Given the description of an element on the screen output the (x, y) to click on. 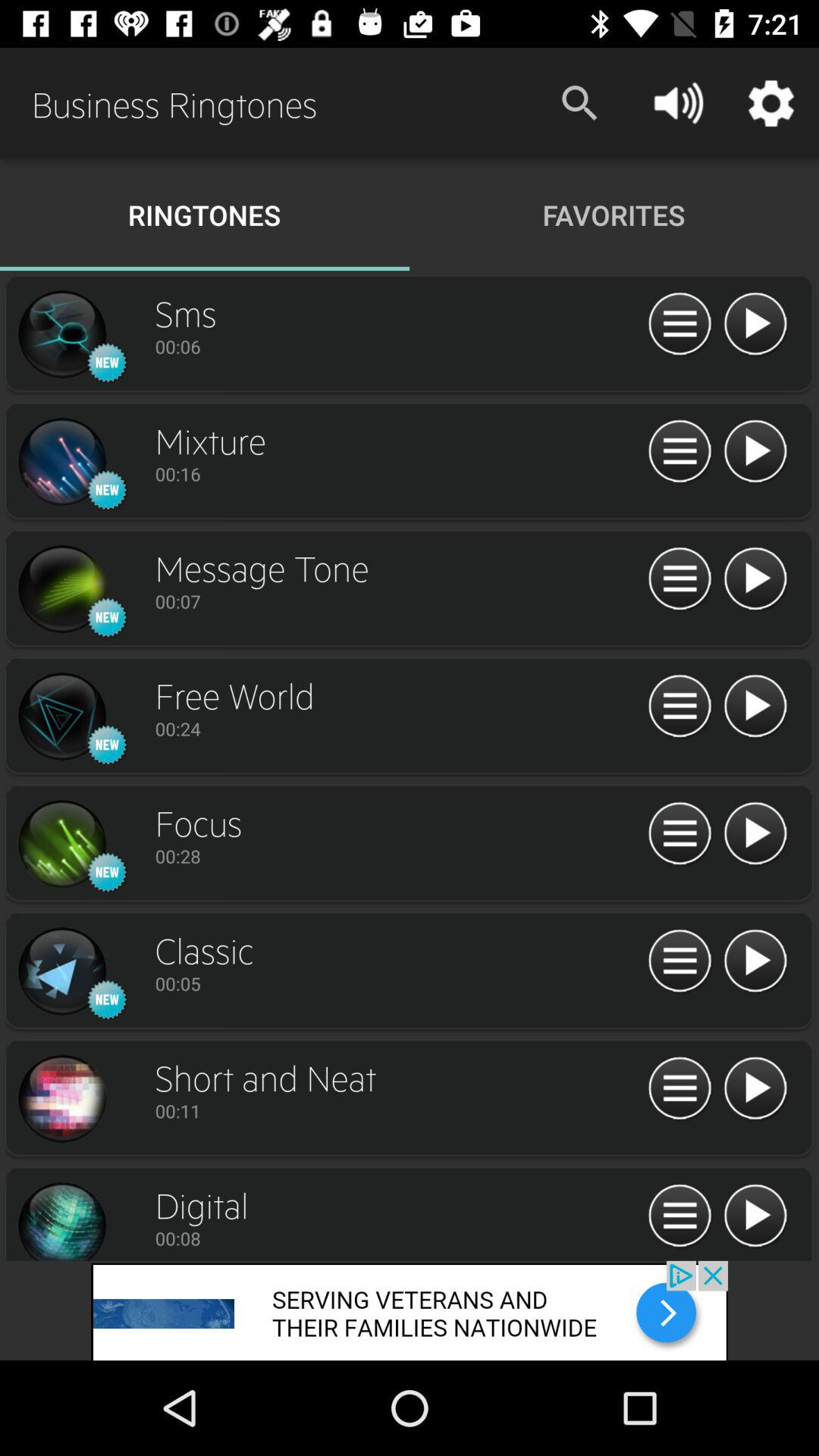
go to customize (679, 961)
